Given the description of an element on the screen output the (x, y) to click on. 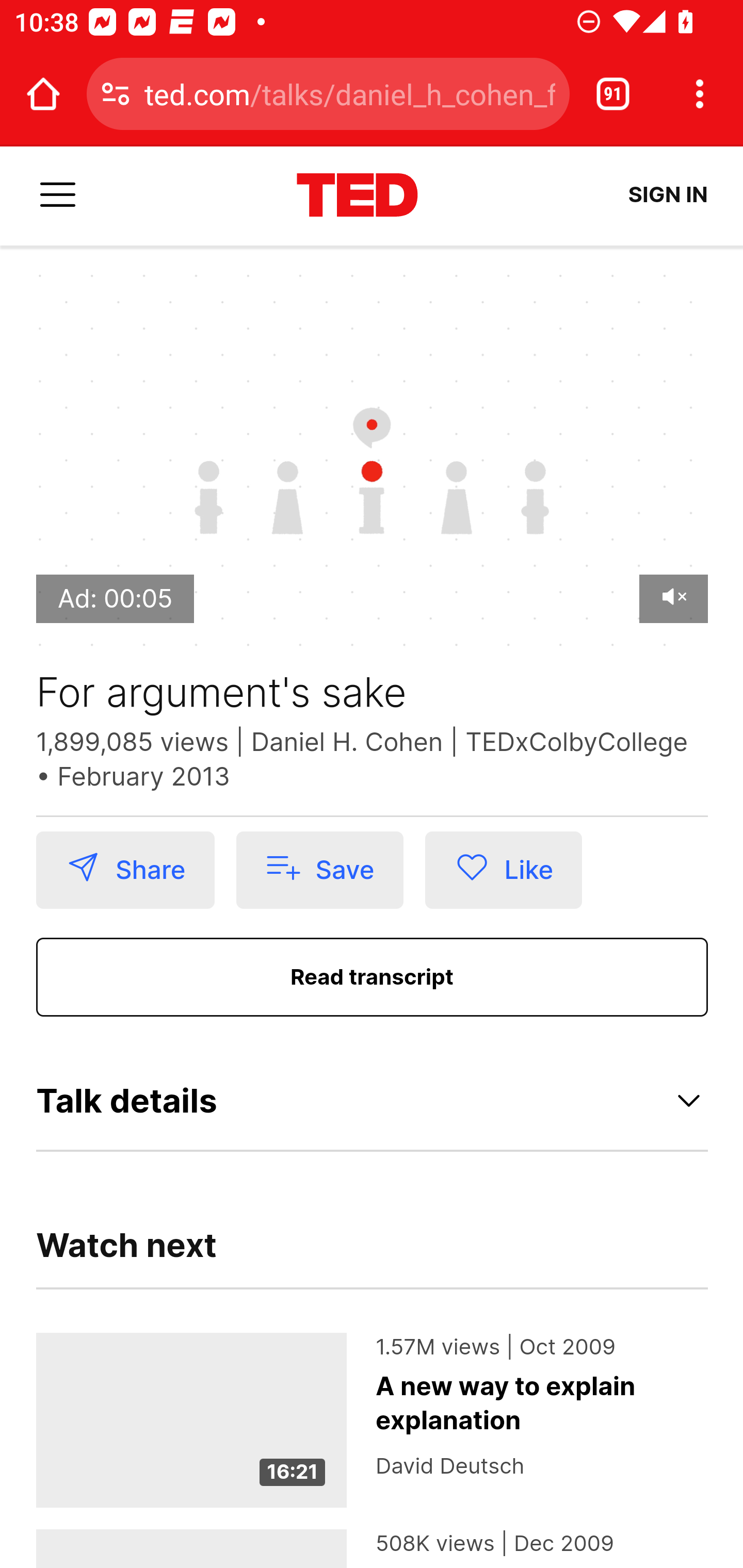
Open the home page (43, 93)
Connection is secure (115, 93)
Switch or close tabs (612, 93)
Customize and control Google Chrome (699, 93)
www.ted (357, 195)
Menu (57, 195)
SIGN IN (667, 194)
Play Video (372, 463)
pause (372, 440)
Share (125, 870)
Save (319, 870)
Like (503, 870)
Read transcript (372, 976)
Talk details (372, 1102)
Watch next (127, 1255)
